Given the description of an element on the screen output the (x, y) to click on. 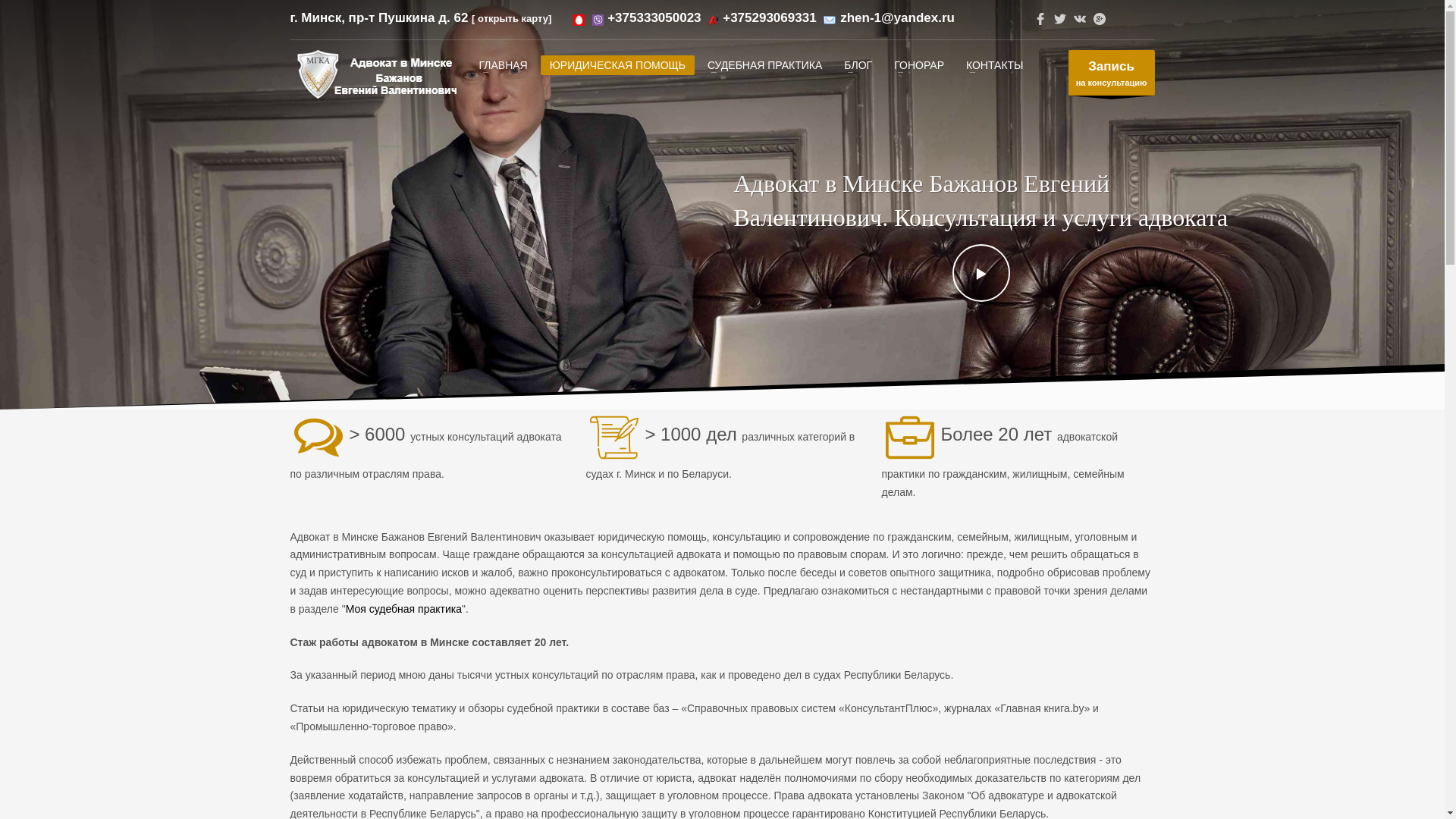
+375293069331 Element type: text (768, 17)
VK Element type: hover (1078, 18)
Facebook Element type: hover (1039, 18)
twitter Element type: hover (1059, 18)
Google plus Element type: hover (1098, 18)
+375333050023 Element type: text (653, 17)
zhen-1@yandex.ru Element type: text (897, 17)
